Given the description of an element on the screen output the (x, y) to click on. 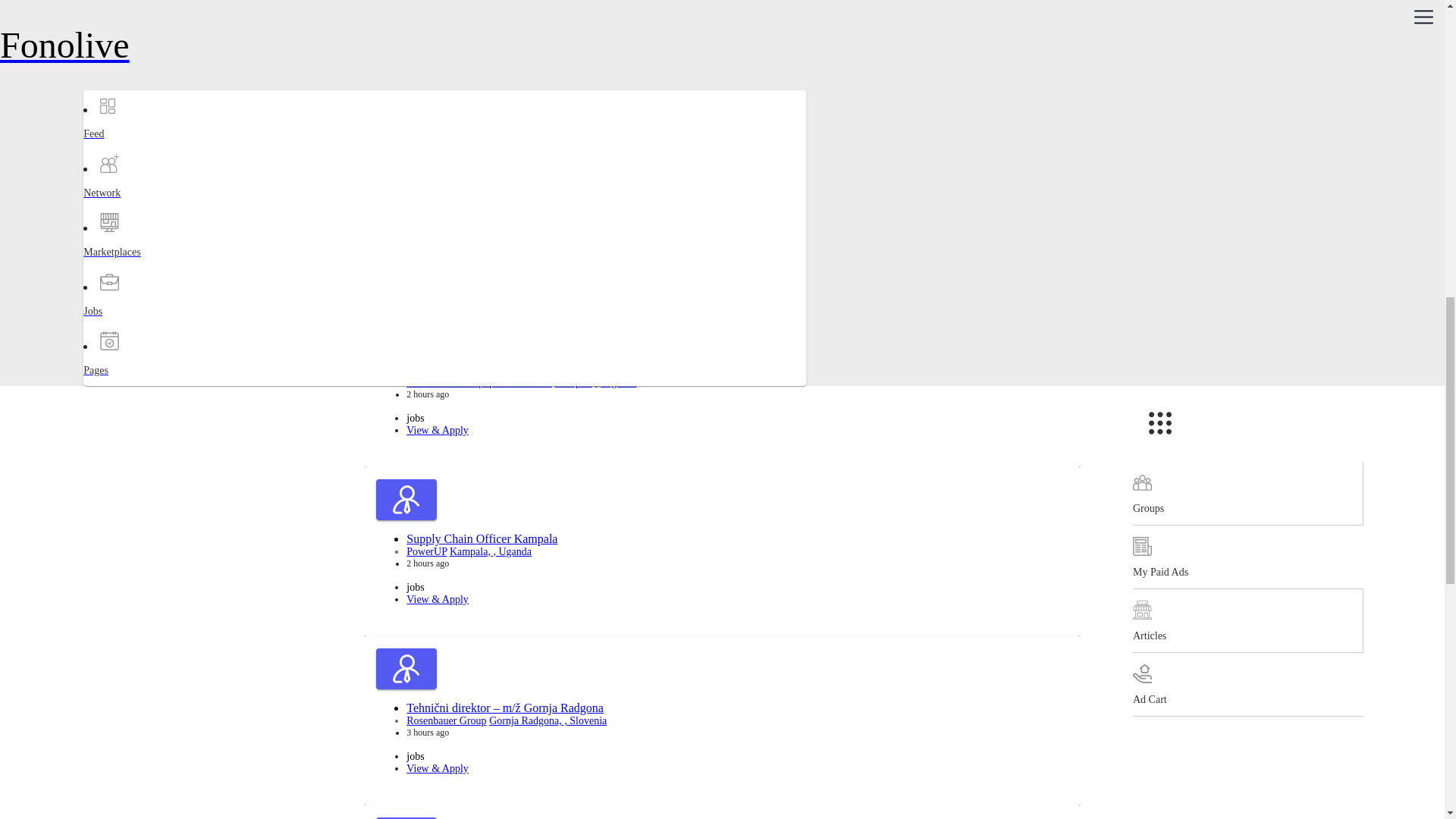
Supply Chain Officer Kampala (481, 200)
Kampala, , Uganda (490, 213)
Gornja Radgona, , Slovenia (548, 43)
PowerUP (426, 213)
Warehouse manager Kampala (478, 369)
Rosenbauer Group (446, 43)
